Given the description of an element on the screen output the (x, y) to click on. 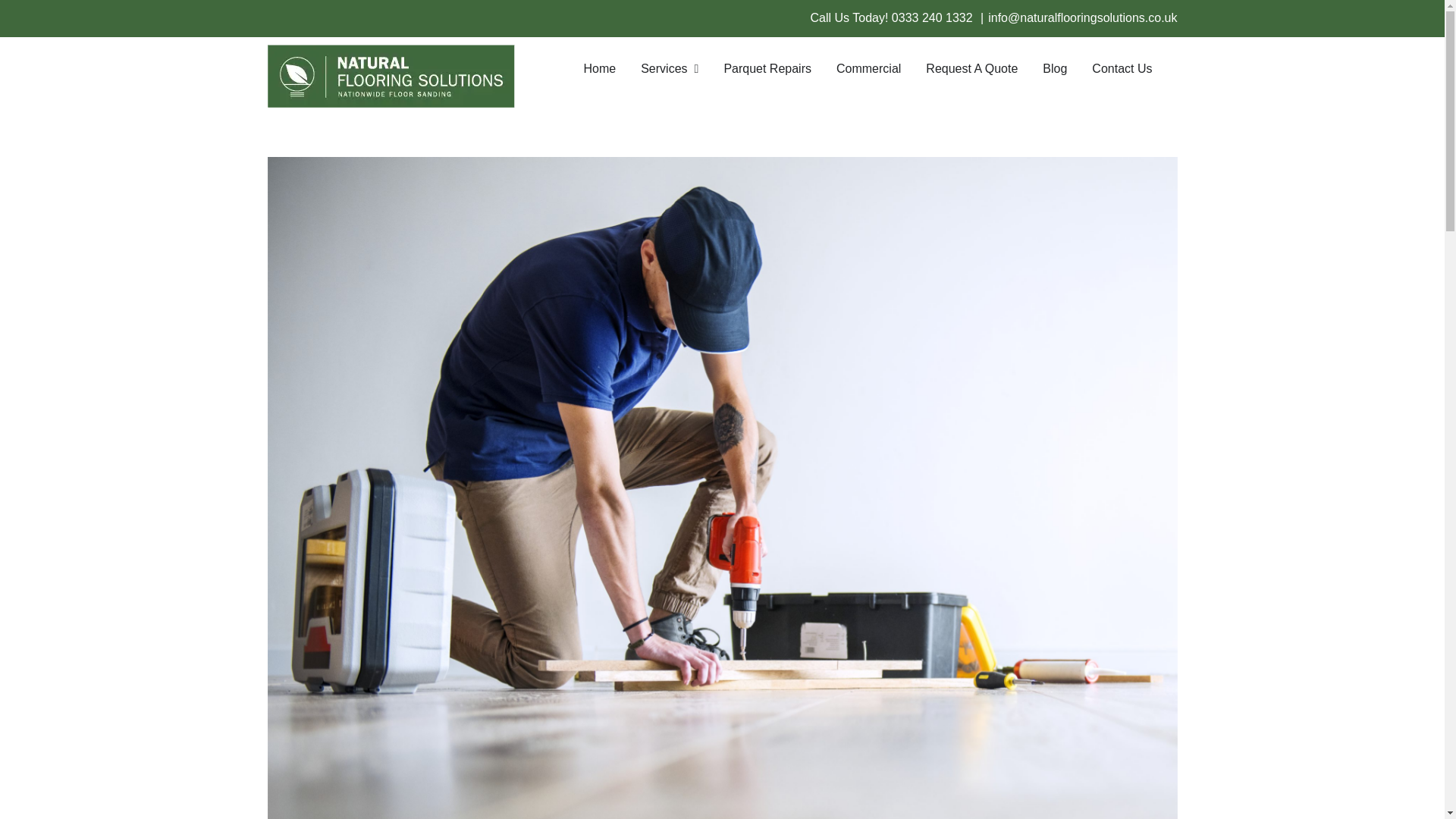
Parquet Repairs (766, 66)
Contact Us (1121, 66)
Services (669, 66)
Request A Quote (971, 66)
0333 240 1332 (933, 17)
Commercial (868, 66)
